Given the description of an element on the screen output the (x, y) to click on. 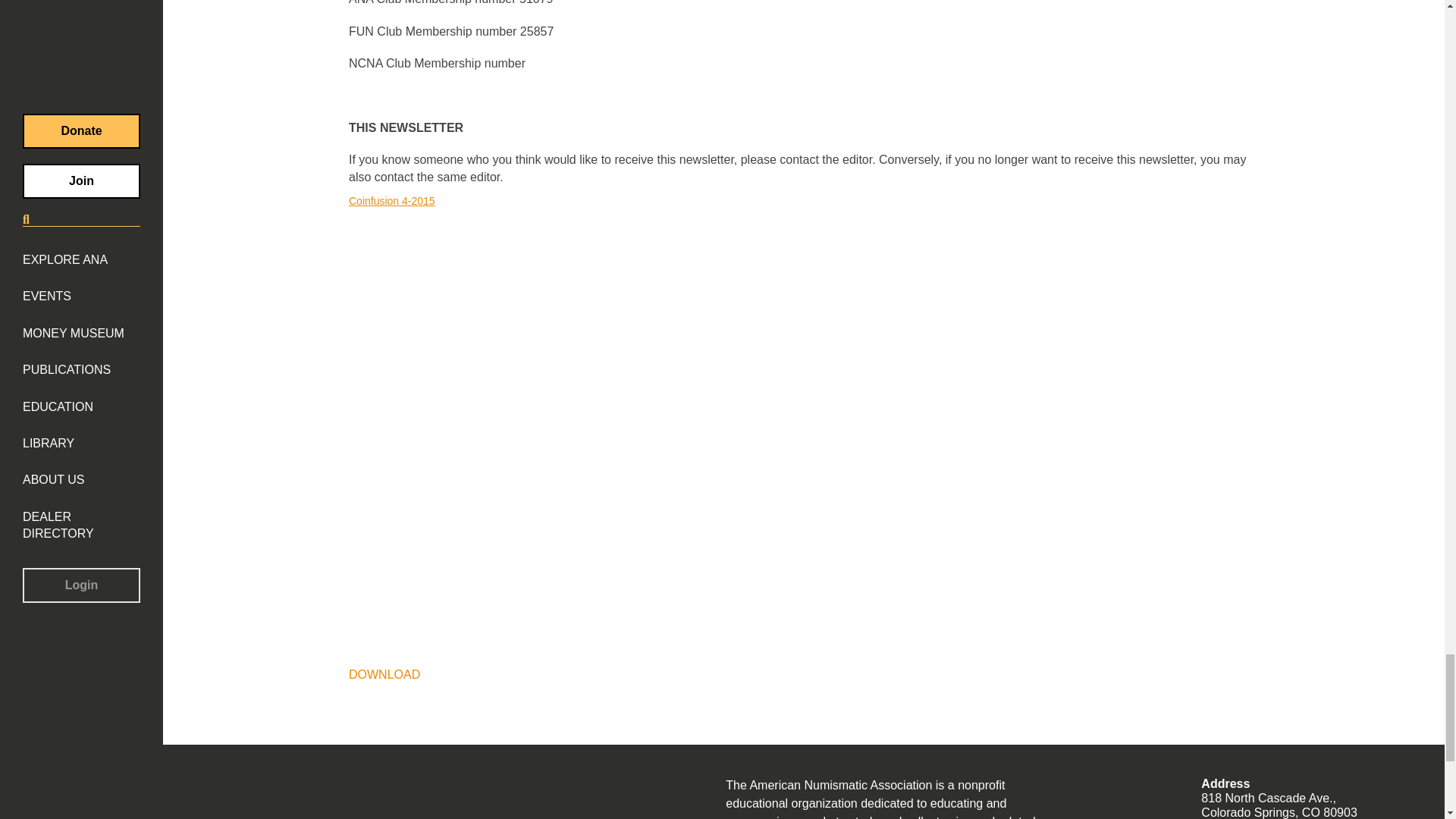
Coinfusion 4-2015 (392, 200)
DOWNLOAD (384, 674)
View Coinfusion 4-2015 on Scribd (392, 200)
